Given the description of an element on the screen output the (x, y) to click on. 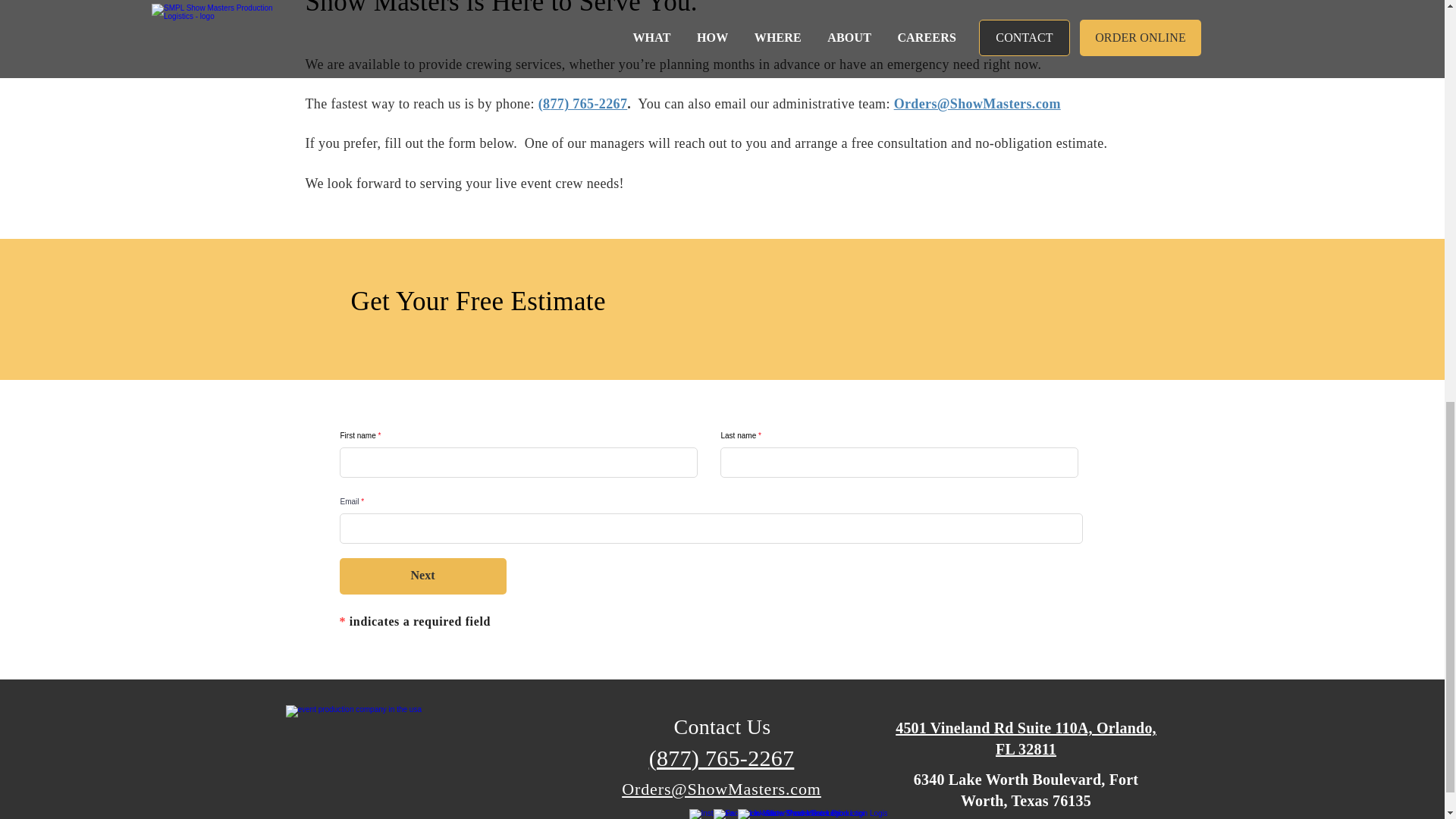
Next (422, 575)
event production company in the usa (389, 757)
4501 Vineland Rd Suite 110A, Orlando, FL 32811 (1025, 738)
